Given the description of an element on the screen output the (x, y) to click on. 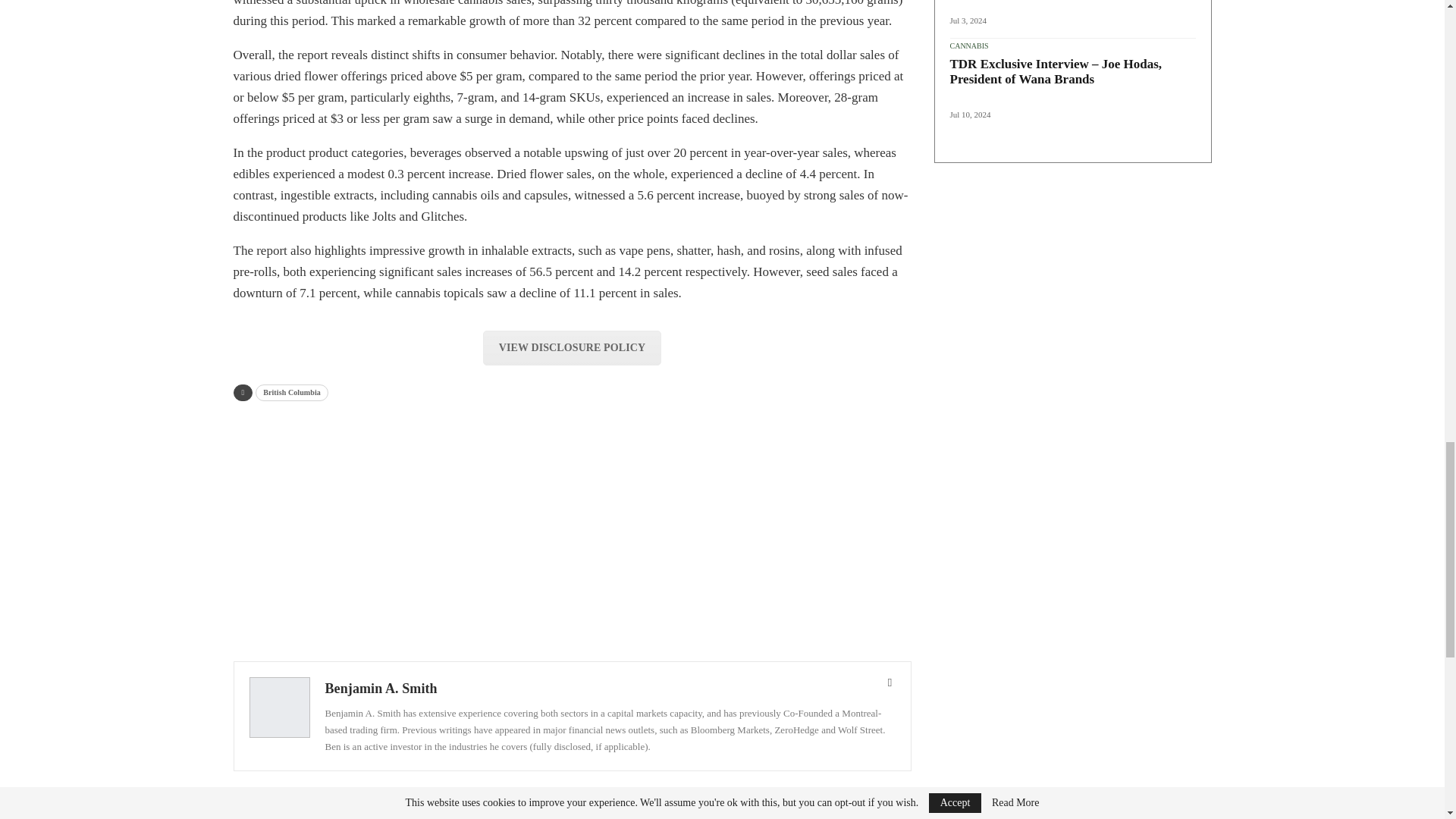
British Columbia (292, 392)
VIEW DISCLOSURE POLICY (572, 347)
VIEW DISCLOSURE POLICY (572, 346)
